Given the description of an element on the screen output the (x, y) to click on. 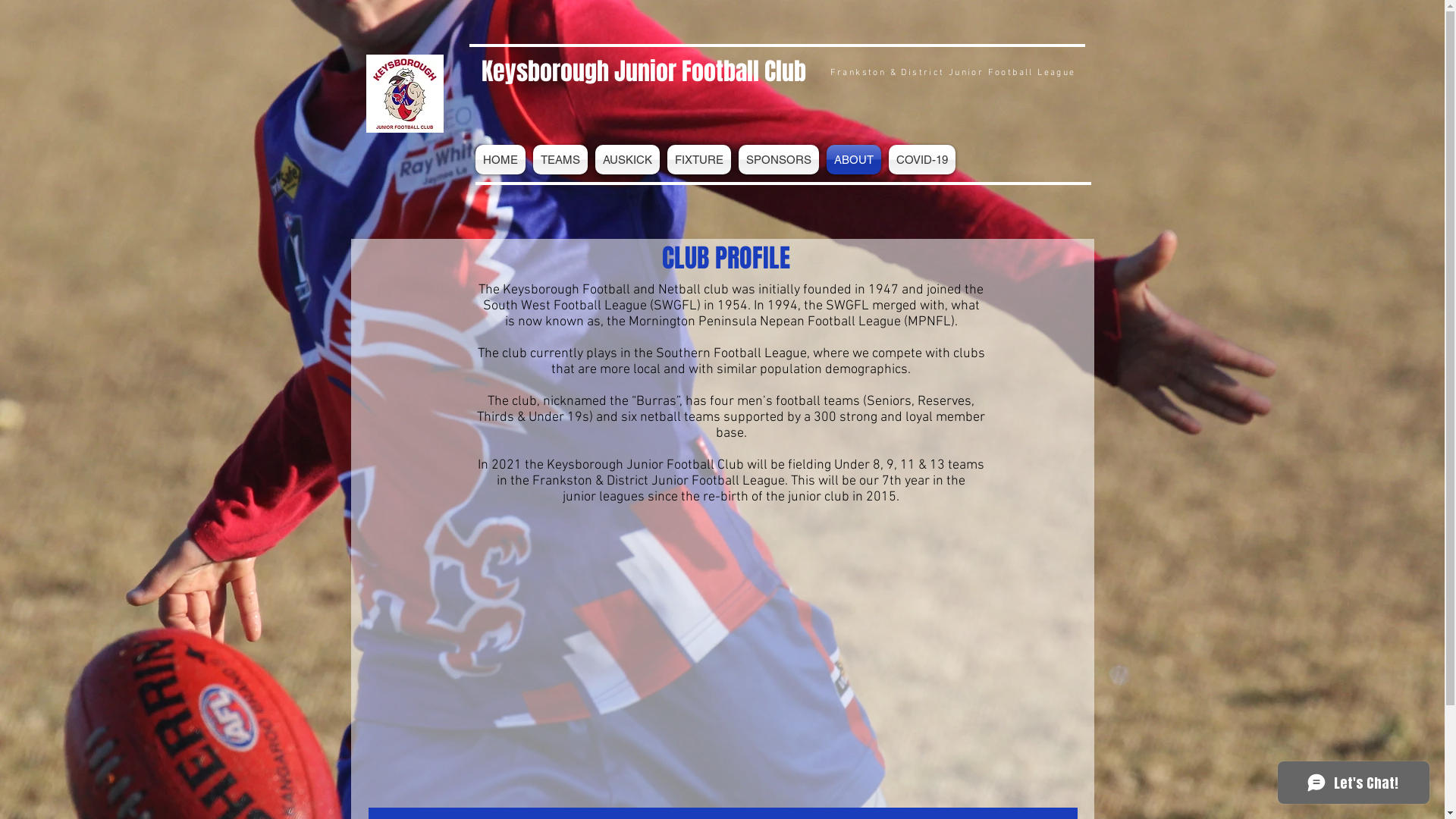
HOME Element type: text (501, 159)
TEAMS Element type: text (560, 159)
ABOUT Element type: text (853, 159)
COVID-19 Element type: text (921, 159)
AUSKICK Element type: text (627, 159)
FIXTURE Element type: text (698, 159)
SPONSORS Element type: text (778, 159)
Keysborough Junior Football Club Element type: text (642, 71)
